Given the description of an element on the screen output the (x, y) to click on. 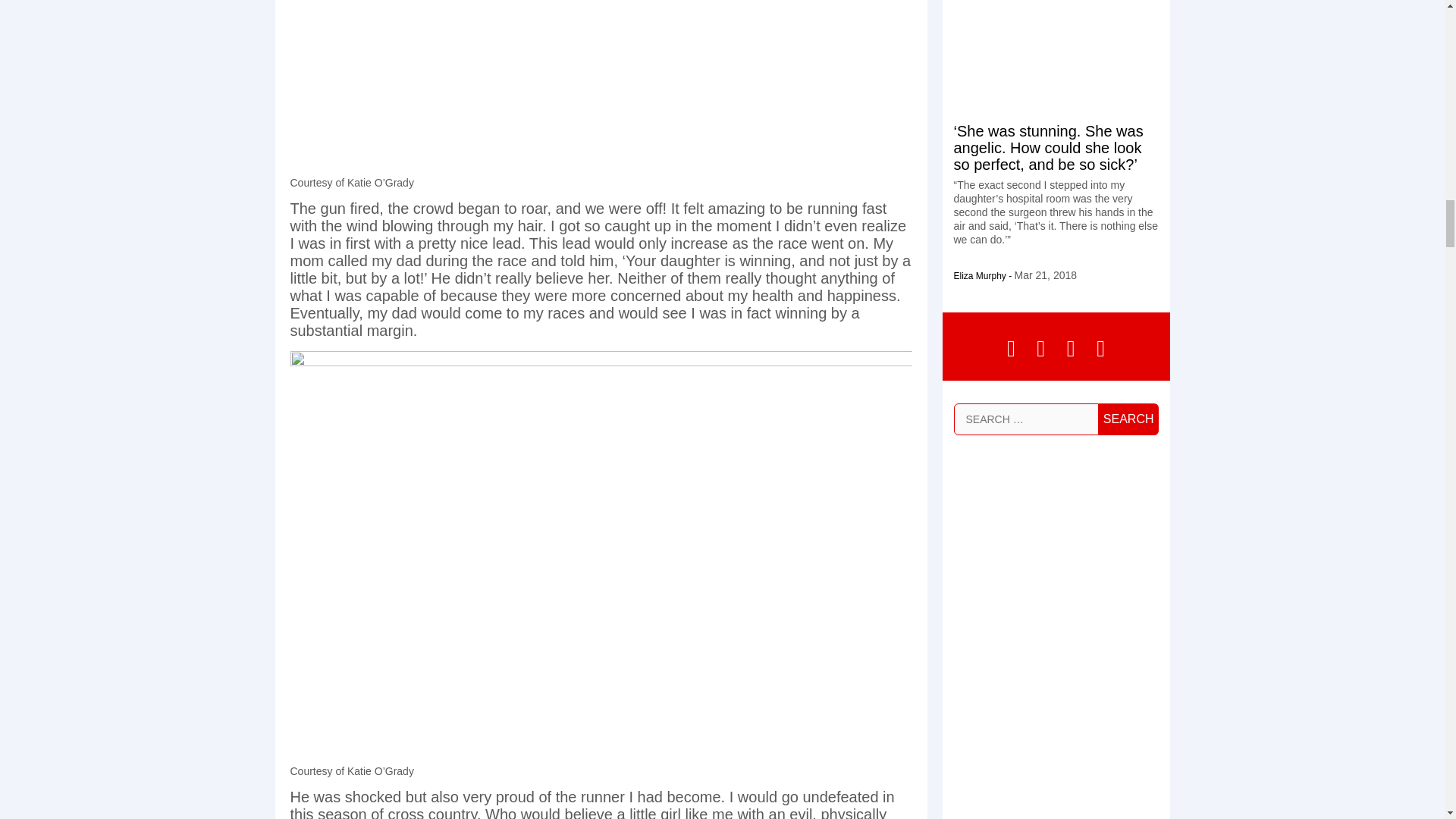
Search (1128, 418)
Search (1128, 418)
March 21, 2018 (1045, 275)
